Given the description of an element on the screen output the (x, y) to click on. 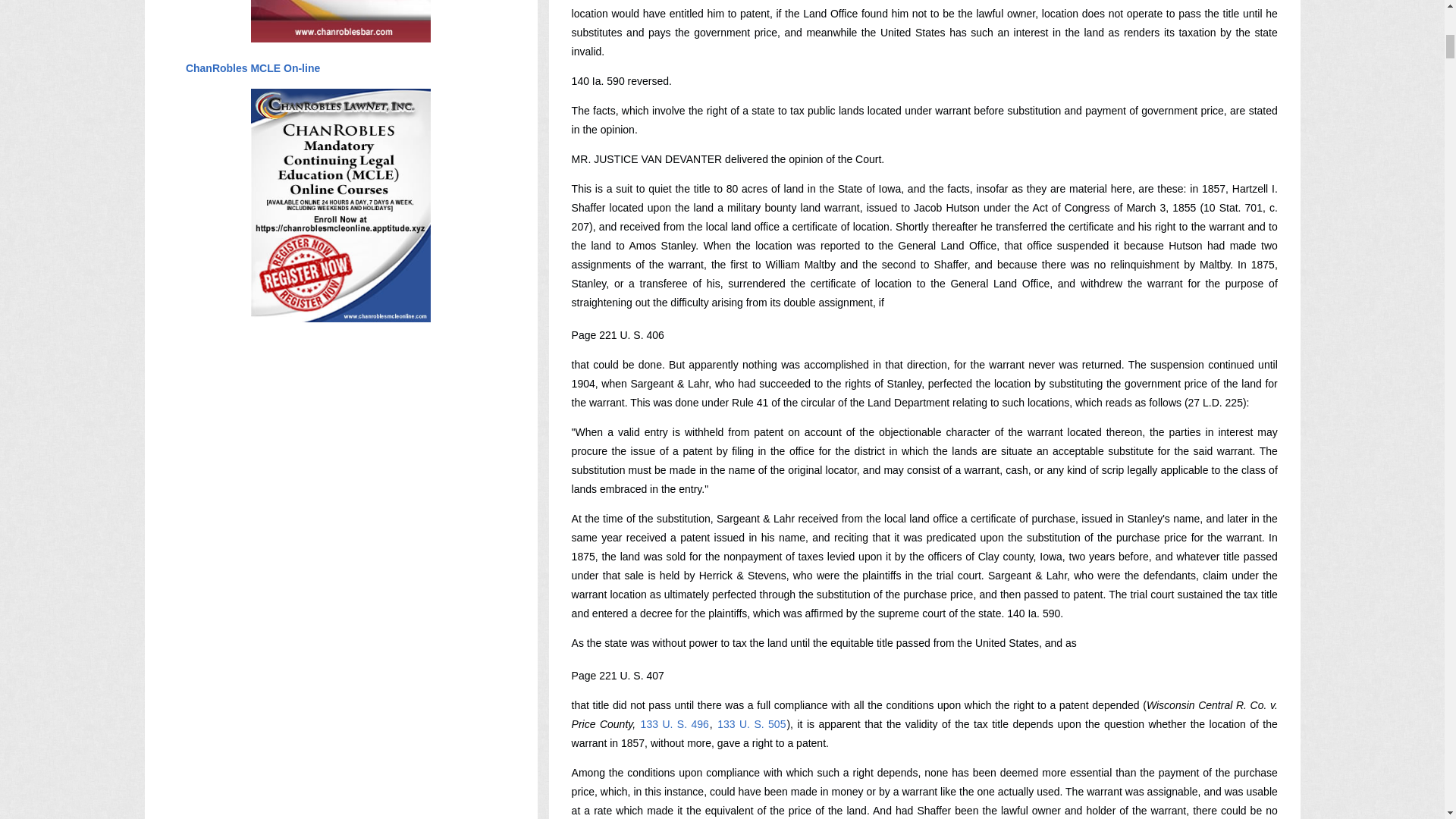
133 U. S. 505 (751, 724)
133 U. S. 496 (675, 724)
Page 221 U. S. 406 (617, 335)
ChanRobles MCLE On-line (252, 68)
Page 221 U. S. 407 (617, 675)
